Given the description of an element on the screen output the (x, y) to click on. 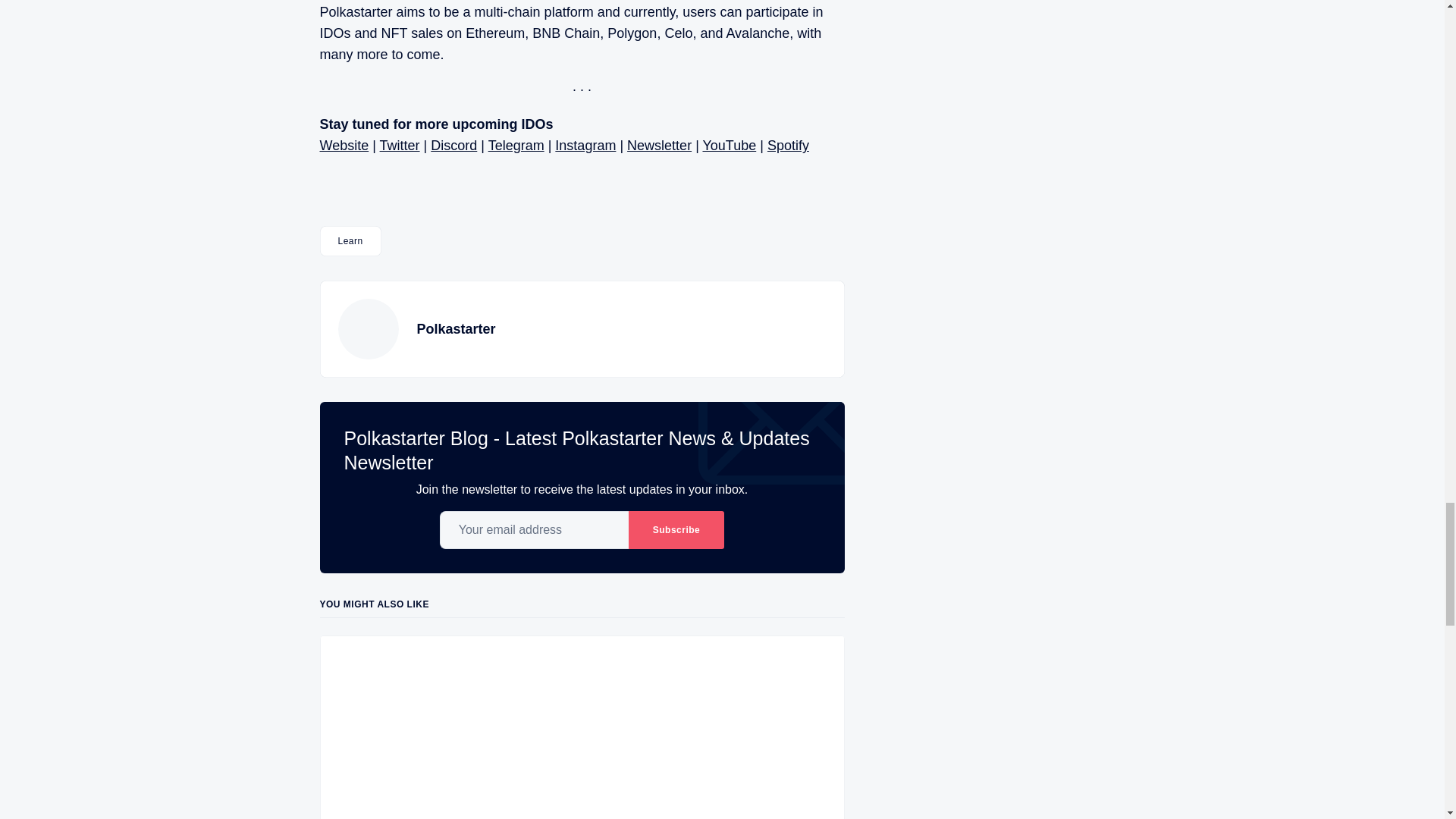
Discord (453, 145)
Twitter (400, 145)
Telegram (515, 145)
Learn (350, 241)
Newsletter (659, 145)
Website (344, 145)
YouTube (728, 145)
Instagram (584, 145)
Spotify (788, 145)
